Given the description of an element on the screen output the (x, y) to click on. 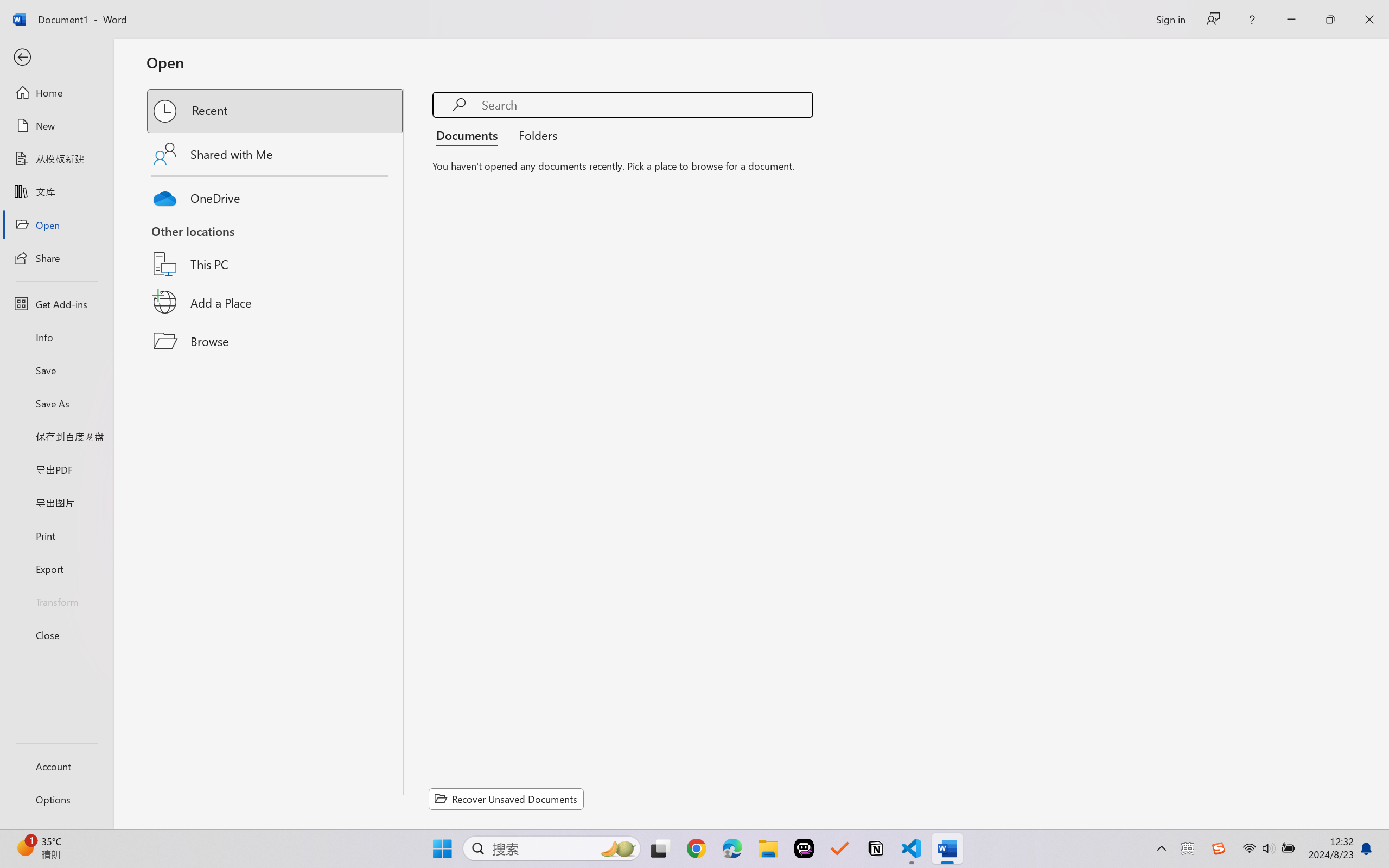
New (56, 125)
Documents (469, 134)
Folders (534, 134)
Recent (275, 110)
Options (56, 798)
Export (56, 568)
Recover Unsaved Documents (506, 798)
